Given the description of an element on the screen output the (x, y) to click on. 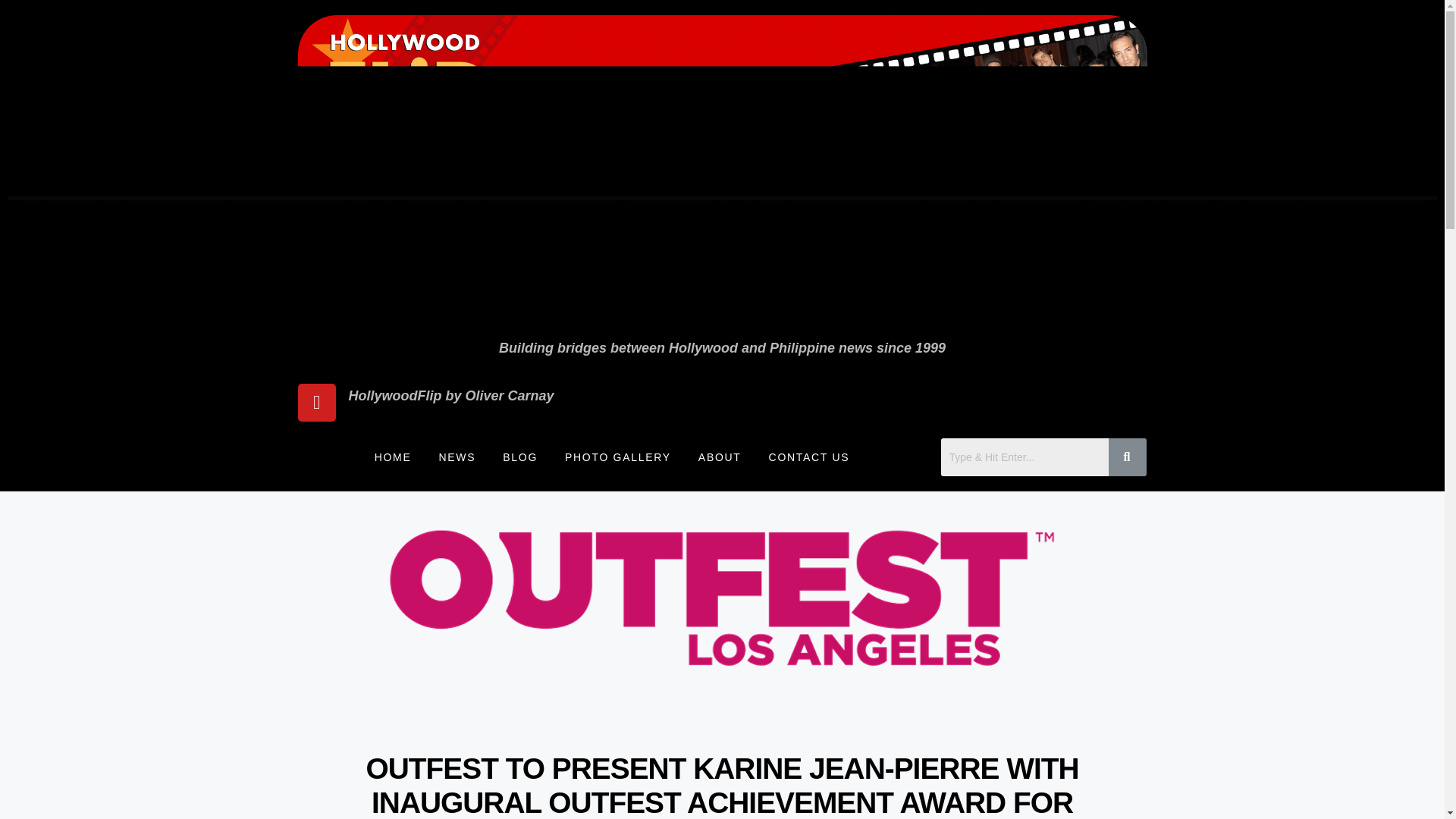
HOME (393, 456)
NEWS (457, 456)
ABOUT (719, 456)
CONTACT US (809, 456)
BLOG (519, 456)
PHOTO GALLERY (617, 456)
Search (1024, 456)
